Given the description of an element on the screen output the (x, y) to click on. 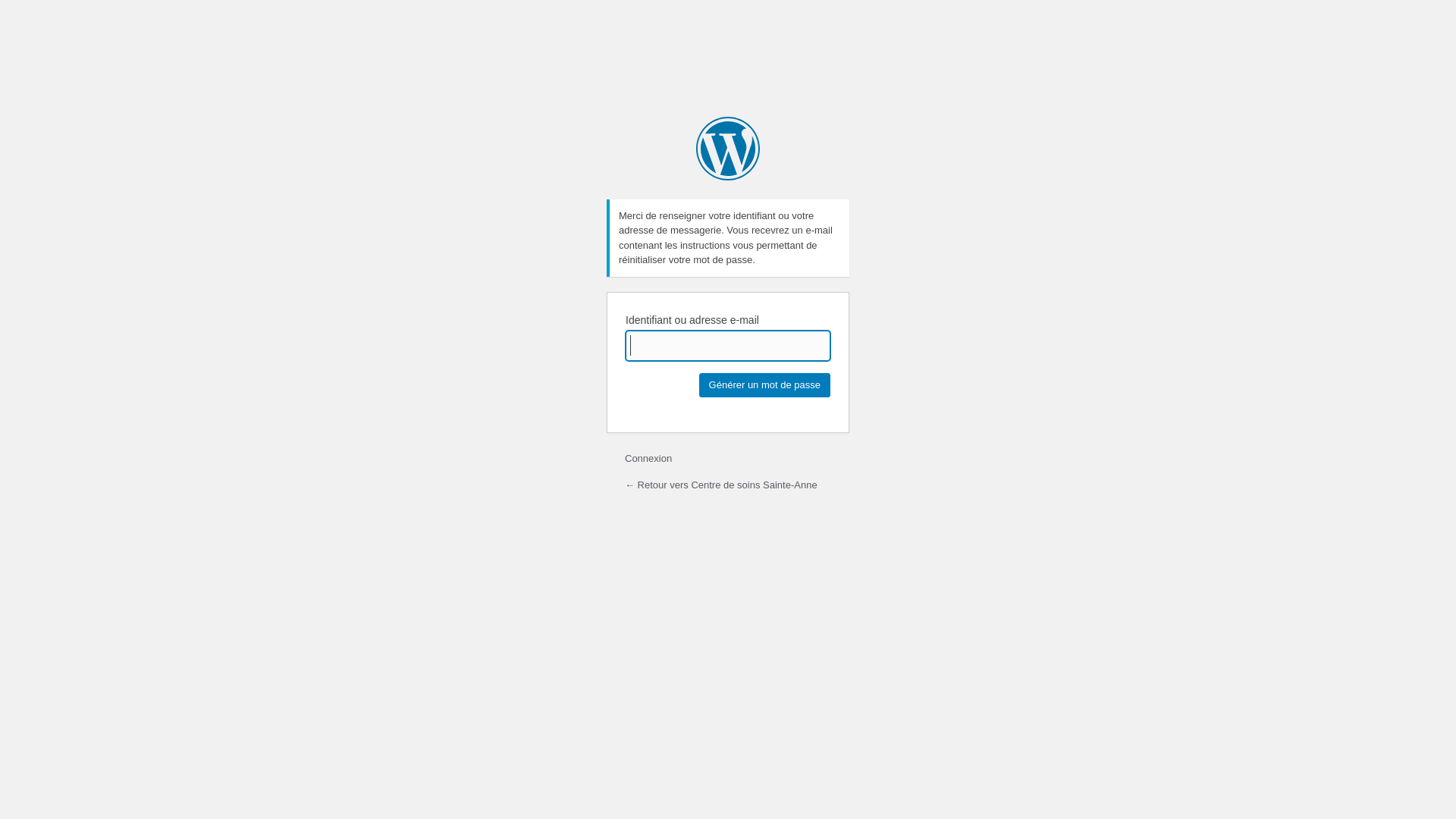
Connexion Element type: text (647, 458)
